Given the description of an element on the screen output the (x, y) to click on. 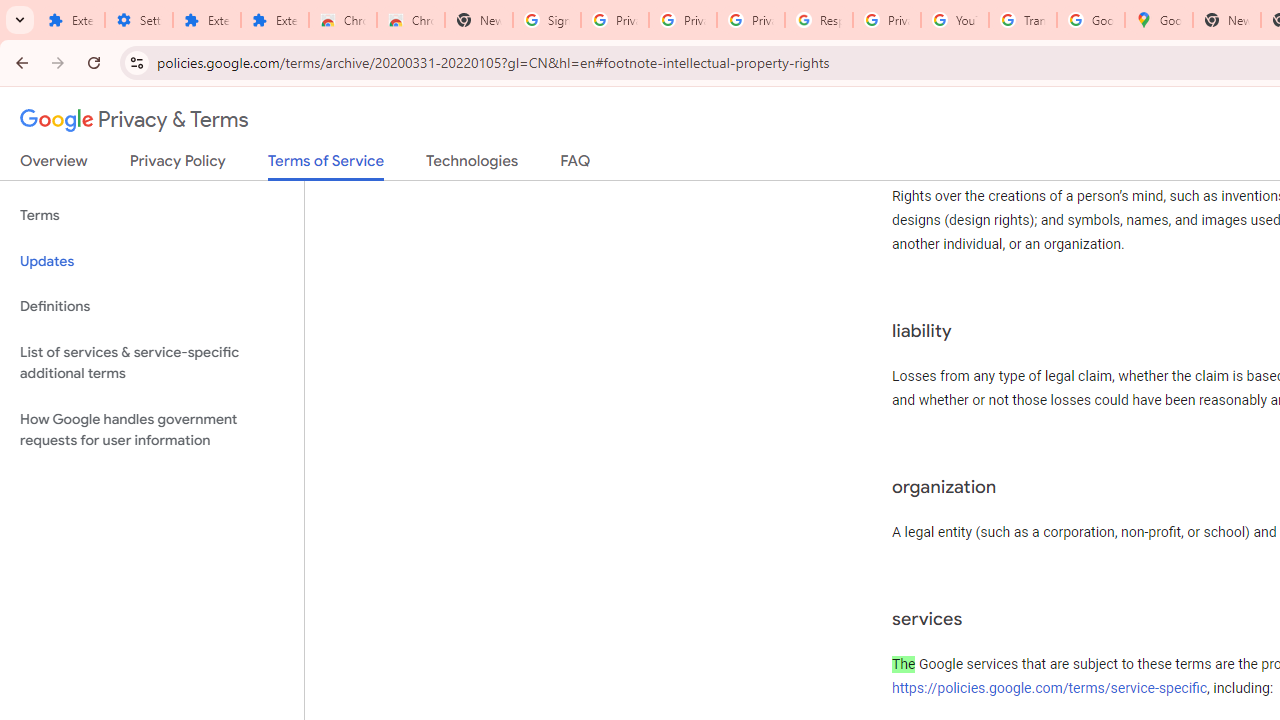
Extensions (70, 20)
Chrome Web Store - Themes (411, 20)
https://policies.google.com/terms/service-specific (1050, 687)
